Given the description of an element on the screen output the (x, y) to click on. 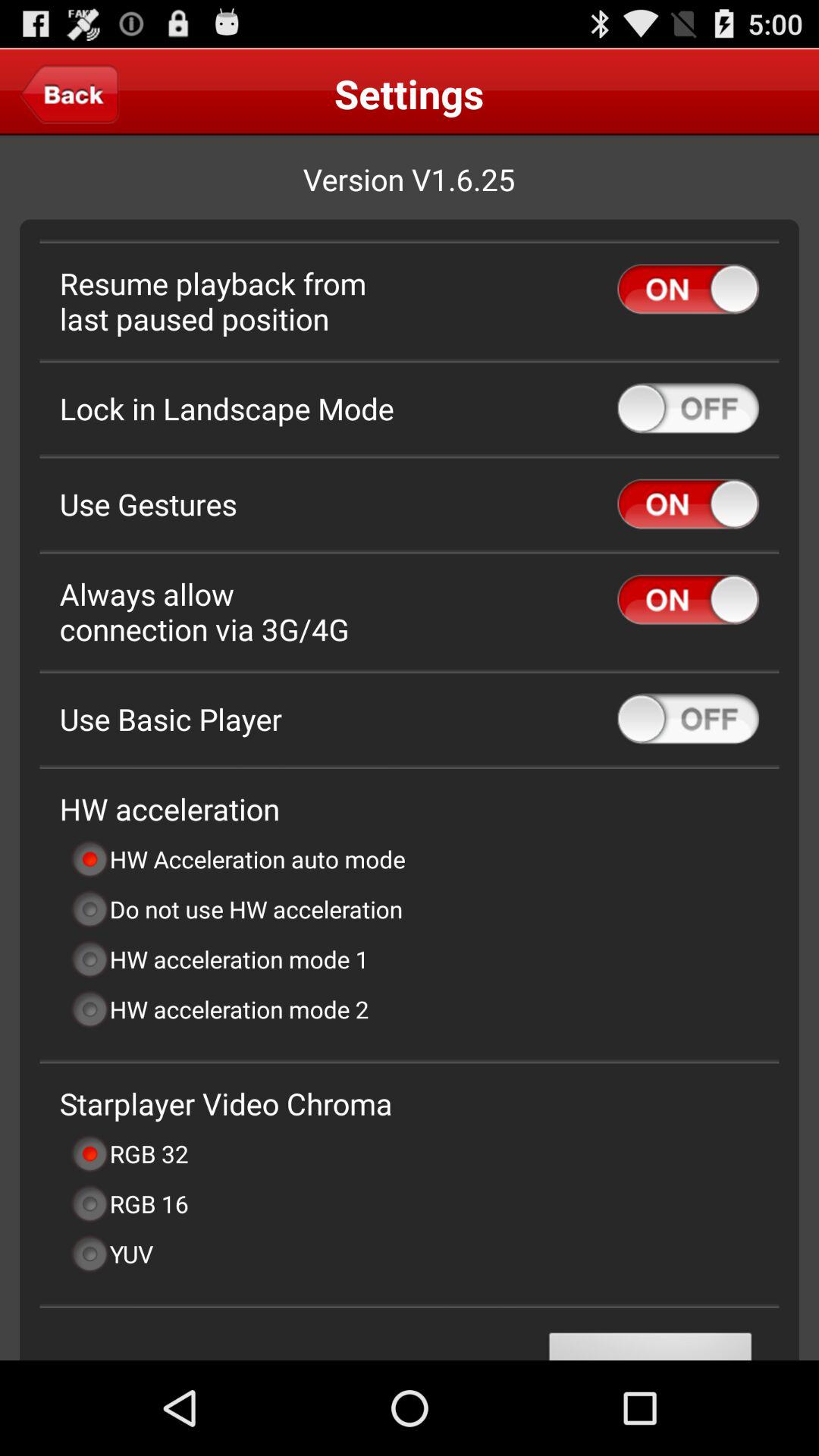
launch icon below hw acceleration auto item (235, 909)
